Given the description of an element on the screen output the (x, y) to click on. 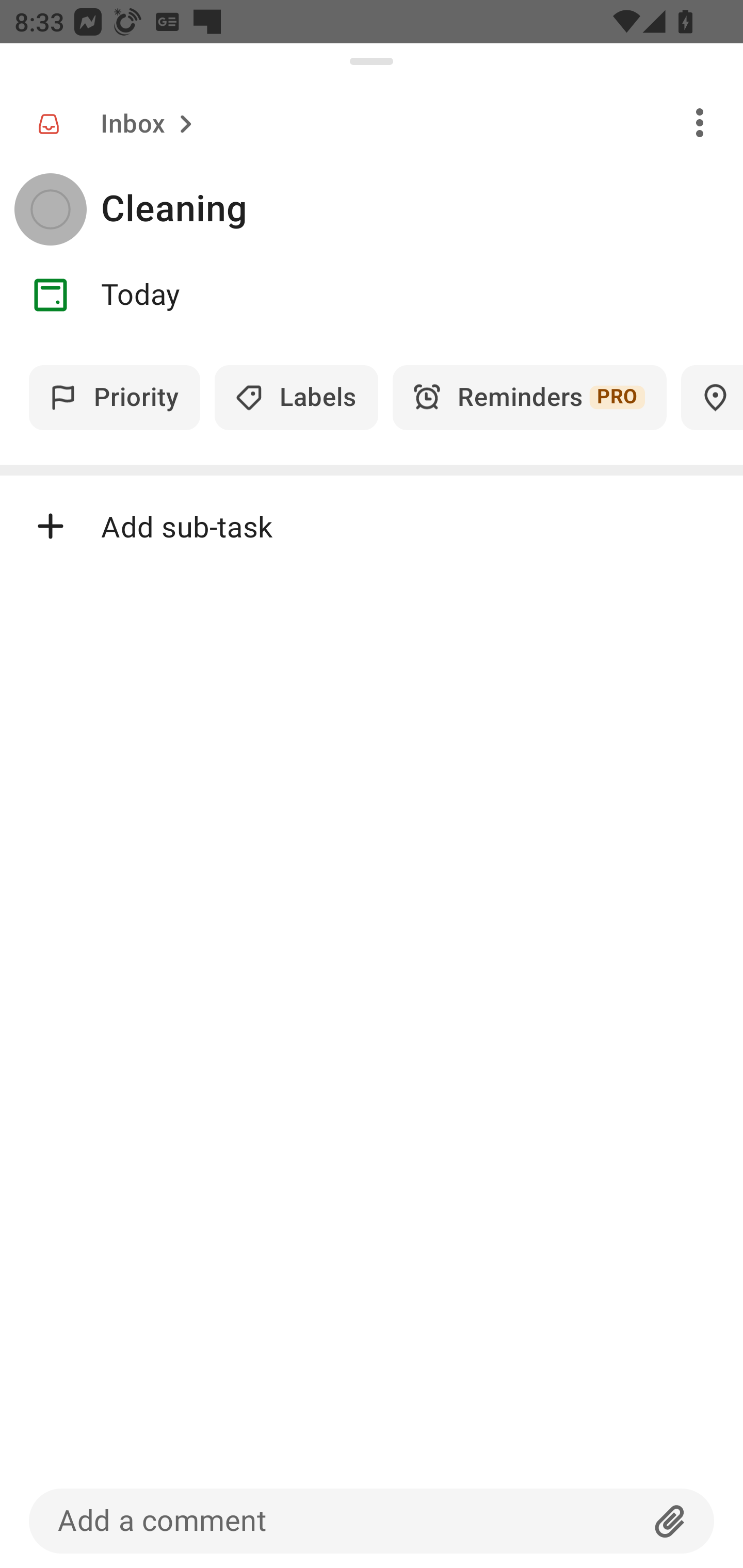
Overflow menu (699, 122)
Complete (50, 209)
Cleaning​ (422, 209)
Date Today (371, 295)
Priority (113, 397)
Labels (296, 397)
Reminders PRO (529, 397)
Locations PRO (712, 397)
Add sub-task (371, 525)
Add a comment Attachment (371, 1520)
Attachment (670, 1520)
